Given the description of an element on the screen output the (x, y) to click on. 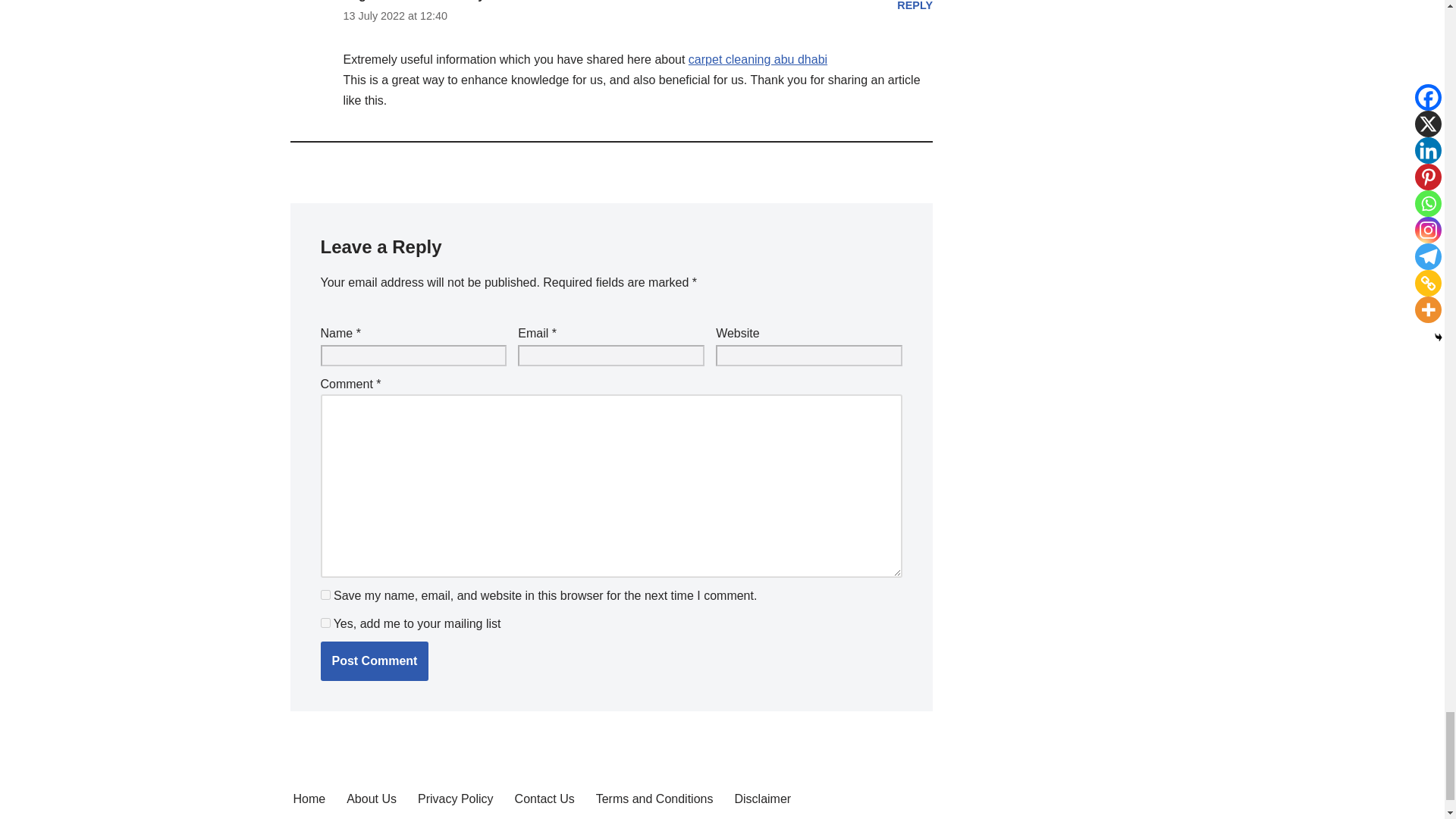
yes (325, 594)
1 (325, 623)
Post Comment (374, 660)
